Given the description of an element on the screen output the (x, y) to click on. 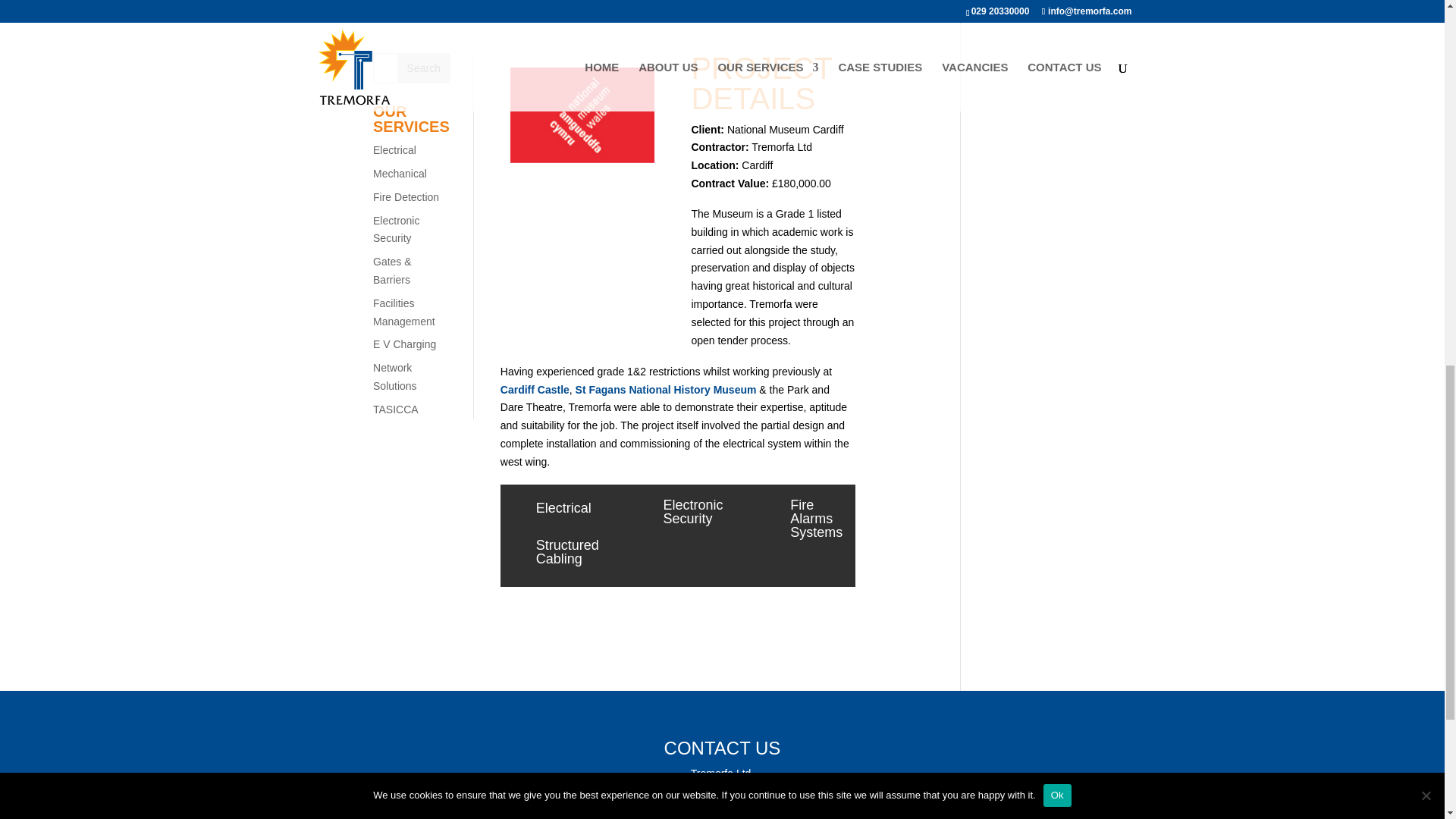
Electronic Security (395, 229)
Search (423, 68)
Search (423, 68)
Fire Detection (405, 196)
Electrical (394, 150)
Mechanical (399, 173)
